Given the description of an element on the screen output the (x, y) to click on. 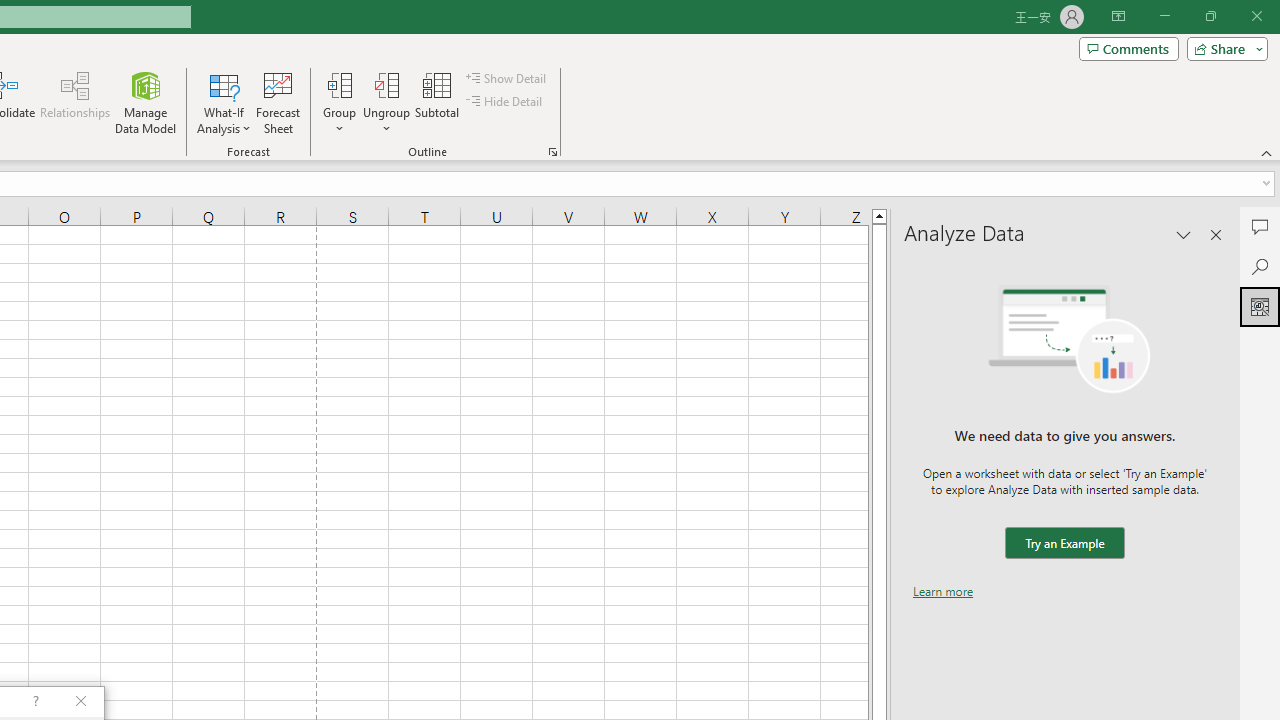
We need data to give you answers. Try an Example (1064, 543)
